Given the description of an element on the screen output the (x, y) to click on. 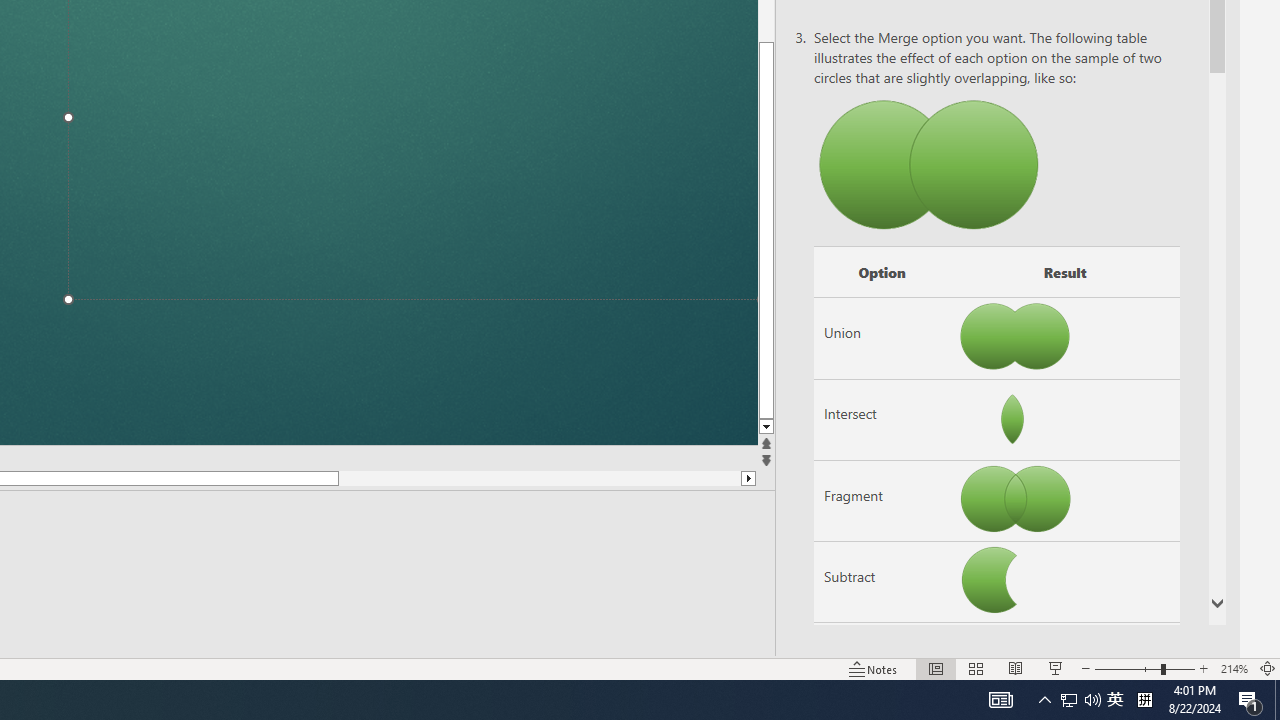
Intersect (881, 419)
Union (881, 338)
Combine (881, 663)
Zoom 214% (1234, 668)
